Given the description of an element on the screen output the (x, y) to click on. 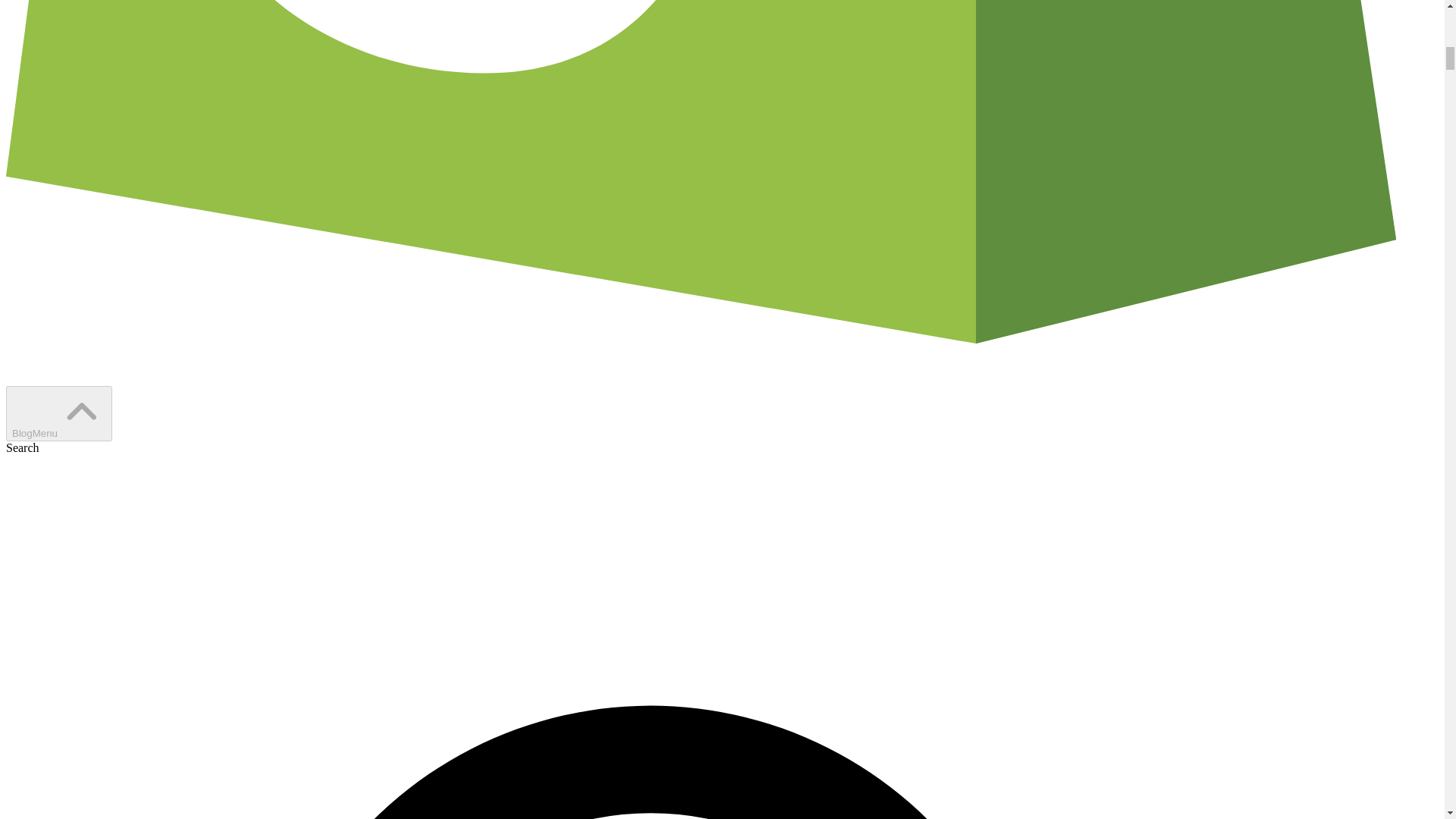
BlogMenu (58, 413)
